Given the description of an element on the screen output the (x, y) to click on. 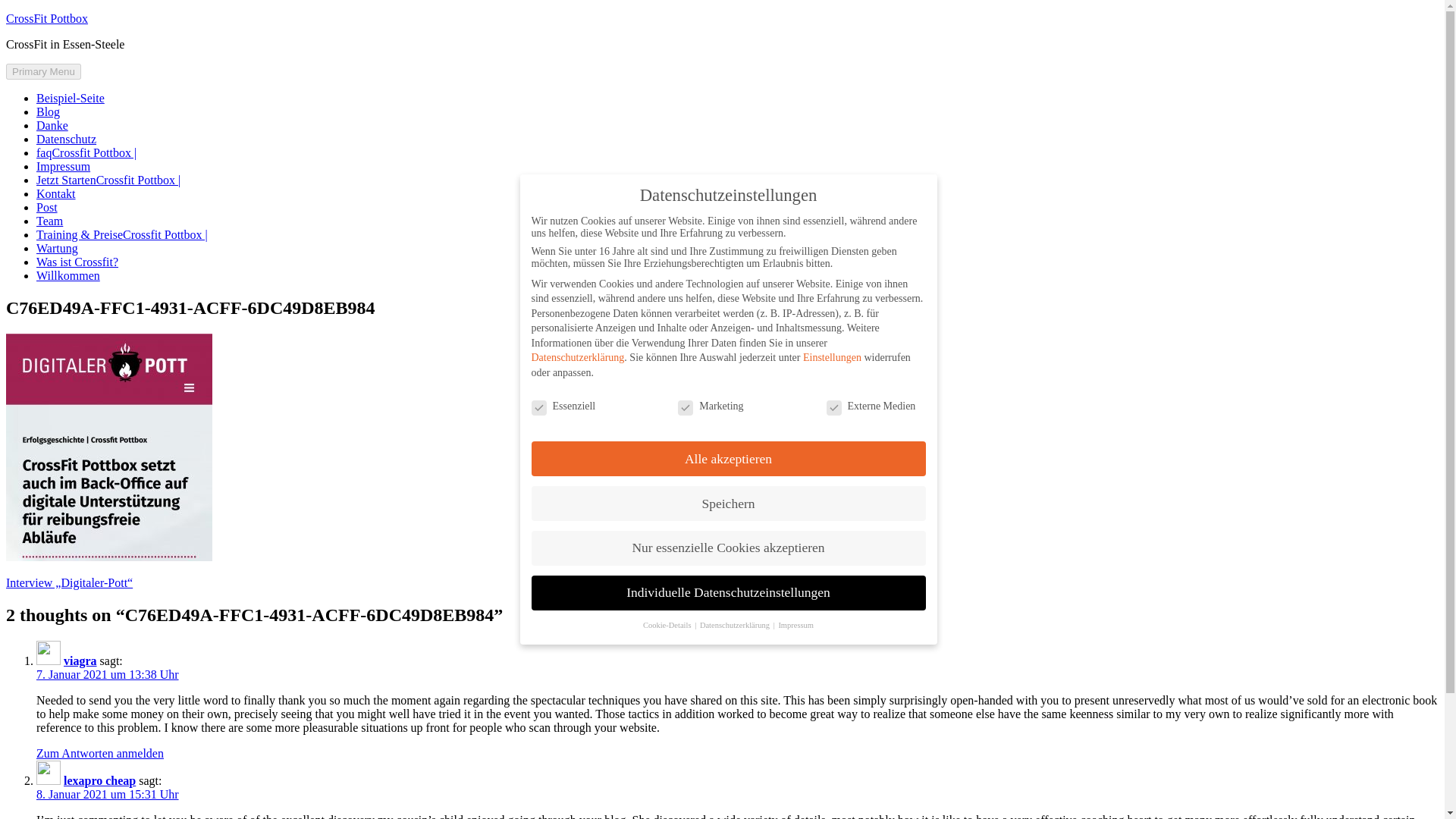
Impressum (63, 165)
lexapro cheap (99, 780)
Datenschutz (66, 138)
viagra (80, 660)
Team (49, 220)
Danke (52, 124)
8. Januar 2021 um 15:31 Uhr (107, 793)
Willkommen (68, 275)
CrossFit Pottbox (46, 18)
Speichern (727, 508)
